Given the description of an element on the screen output the (x, y) to click on. 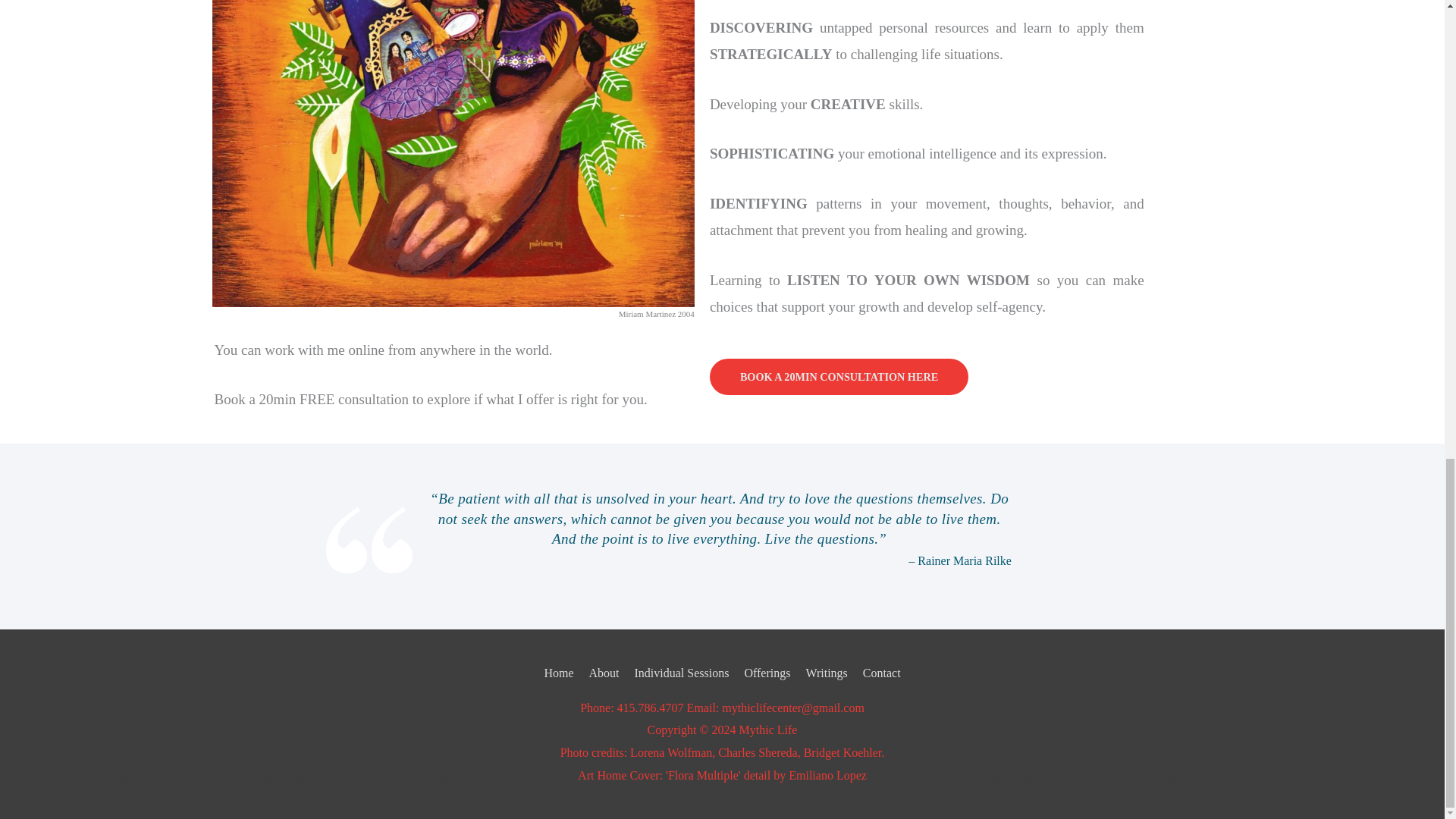
Contact (879, 672)
Writings (826, 672)
Home (561, 672)
Individual Sessions (681, 672)
BOOK A 20MIN CONSULTATION HERE (839, 376)
Offerings (767, 672)
About (604, 672)
